Given the description of an element on the screen output the (x, y) to click on. 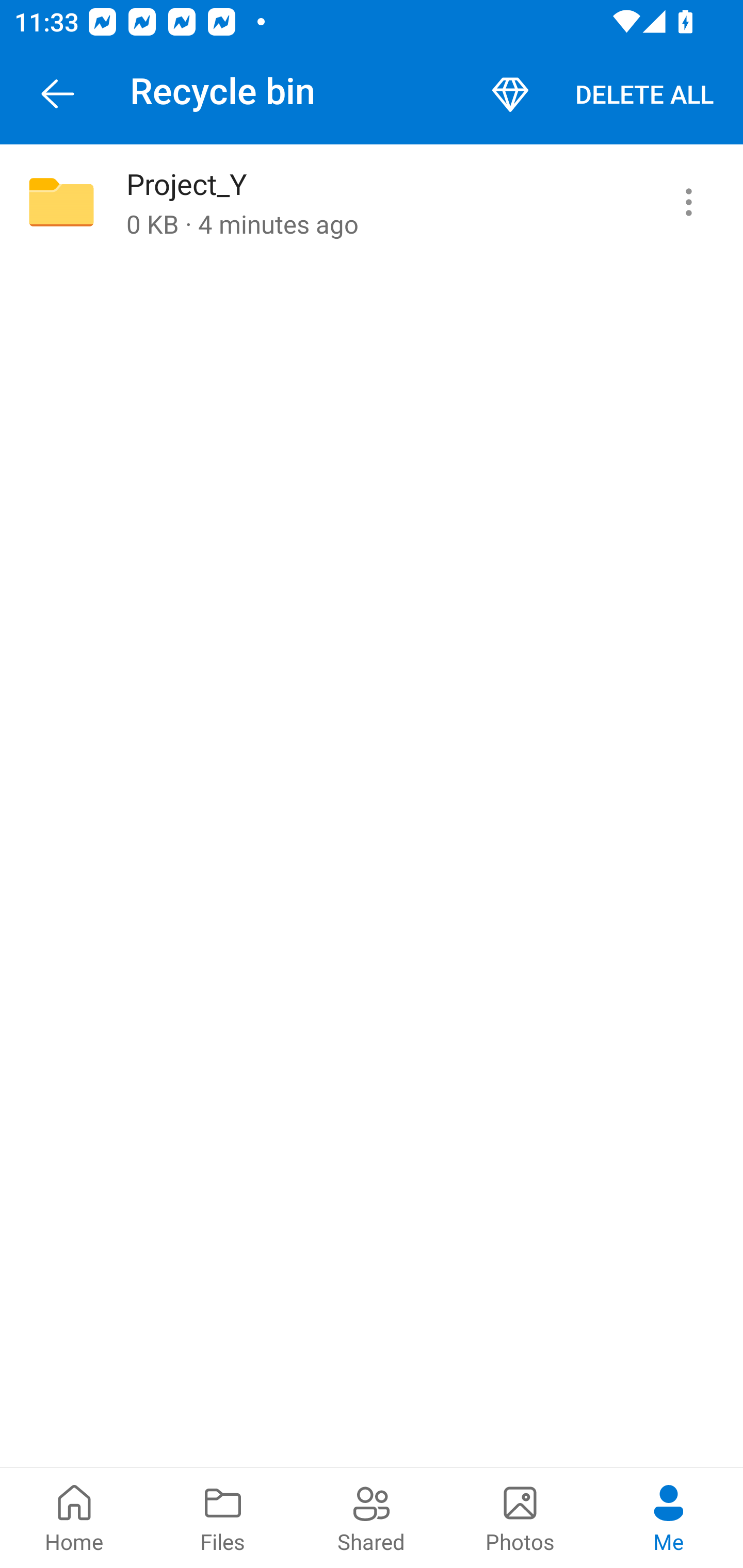
Navigate Up (57, 93)
Premium button (509, 93)
DELETE ALL Delete all button (644, 93)
Project_Y commands (688, 202)
Home pivot Home (74, 1517)
Files pivot Files (222, 1517)
Shared pivot Shared (371, 1517)
Photos pivot Photos (519, 1517)
